Given the description of an element on the screen output the (x, y) to click on. 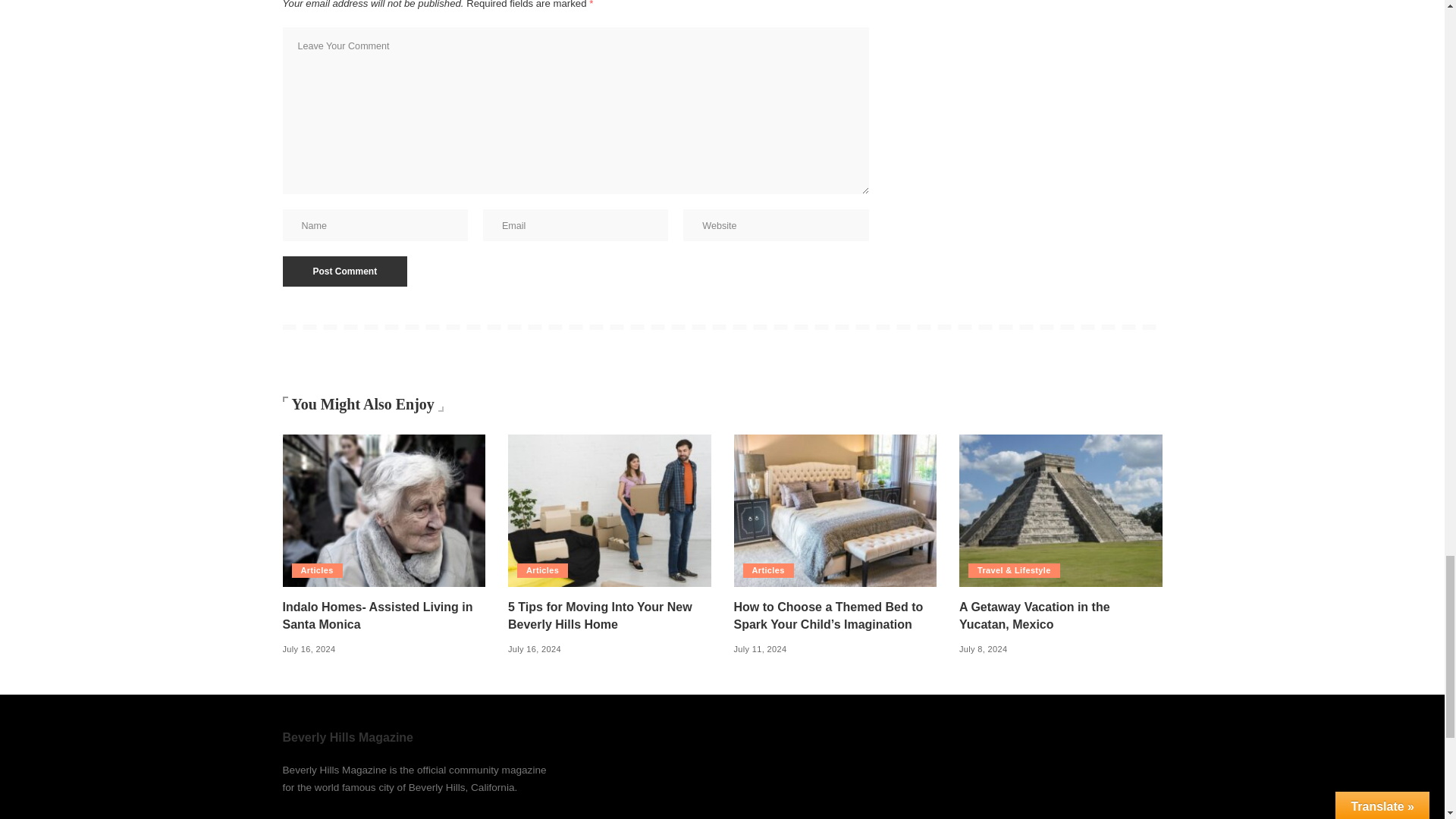
Post Comment (344, 271)
